Given the description of an element on the screen output the (x, y) to click on. 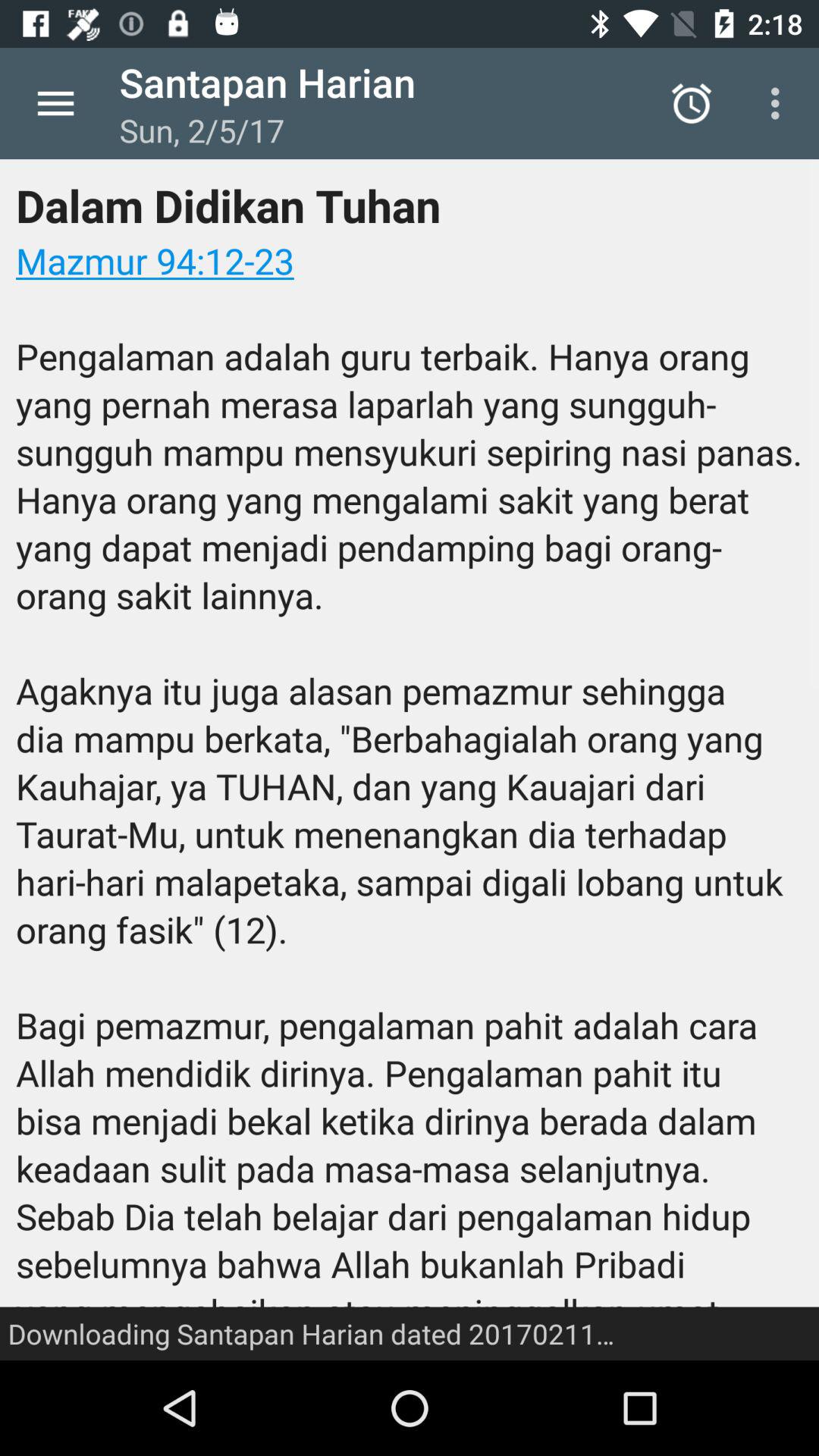
turn off the icon to the right of santapan harian (691, 103)
